Given the description of an element on the screen output the (x, y) to click on. 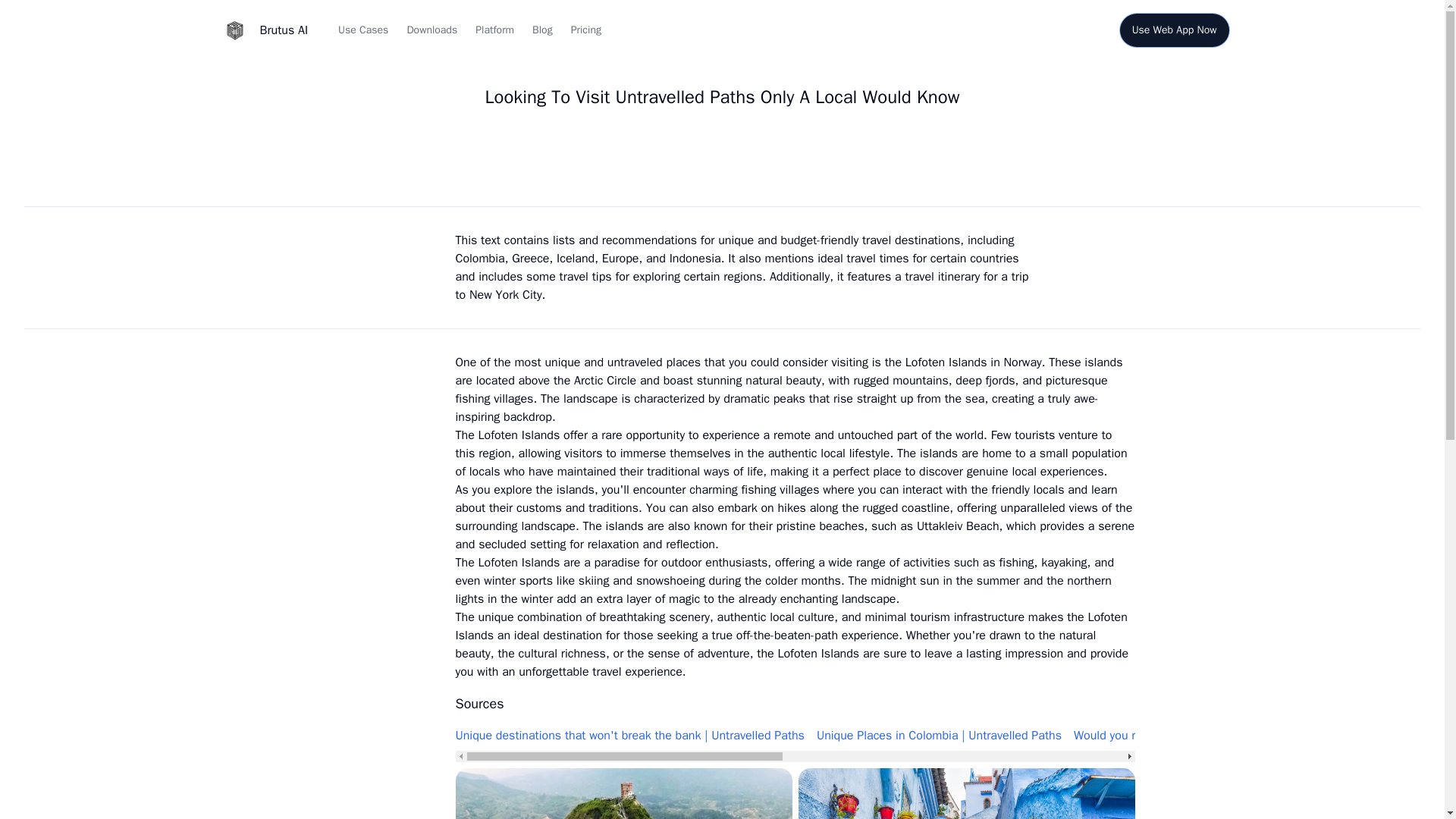
Brutus AI (261, 30)
Use Cases (362, 30)
Platform (494, 30)
Use Web App Now (1173, 29)
Downloads (431, 30)
